Given the description of an element on the screen output the (x, y) to click on. 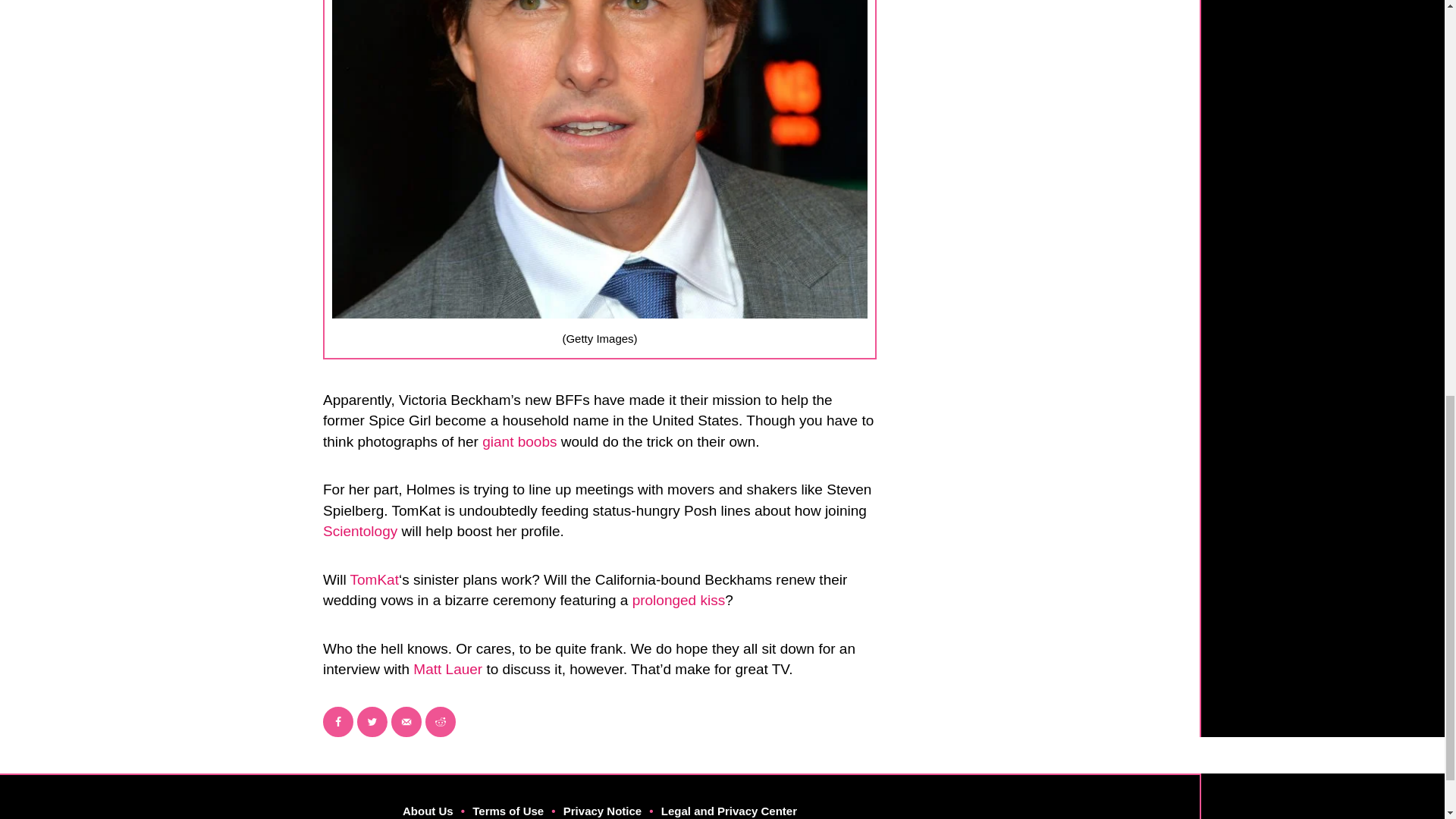
Victoria Beckham (379, 100)
Share on Facebook (338, 701)
Send over email (406, 701)
Share on Reddit (440, 701)
Share on Twitter (371, 701)
relocating to L.A (558, 122)
